Given the description of an element on the screen output the (x, y) to click on. 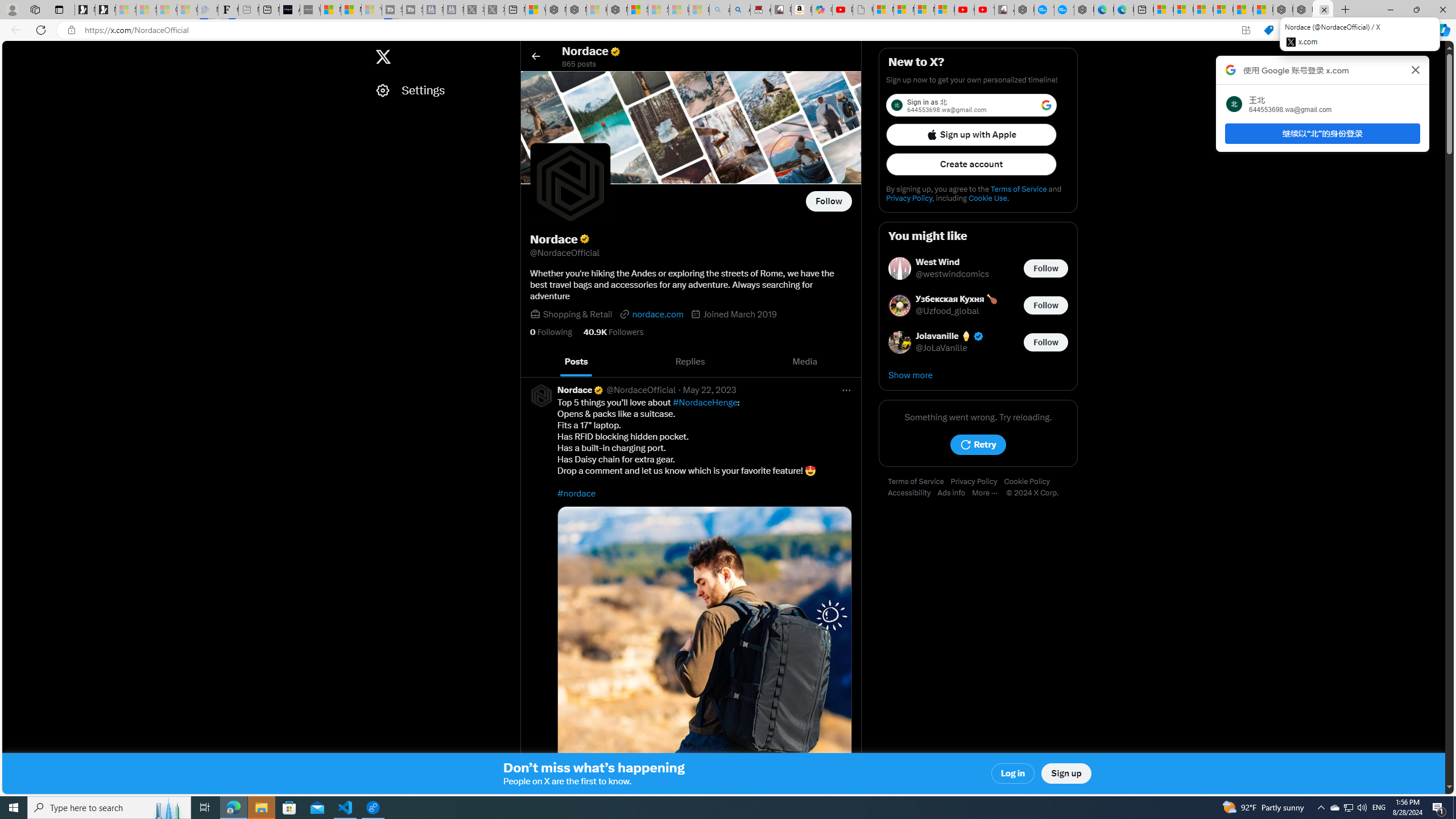
App available. Install X (1245, 29)
Verified account (978, 336)
Retry (978, 444)
Sign up with Apple (971, 134)
Follow @Uzfood_global (1045, 304)
Posts (576, 361)
Log in (1013, 773)
All Cubot phones (1004, 9)
Streaming Coverage | T3 - Sleeping (392, 9)
View site information (70, 29)
